Given the description of an element on the screen output the (x, y) to click on. 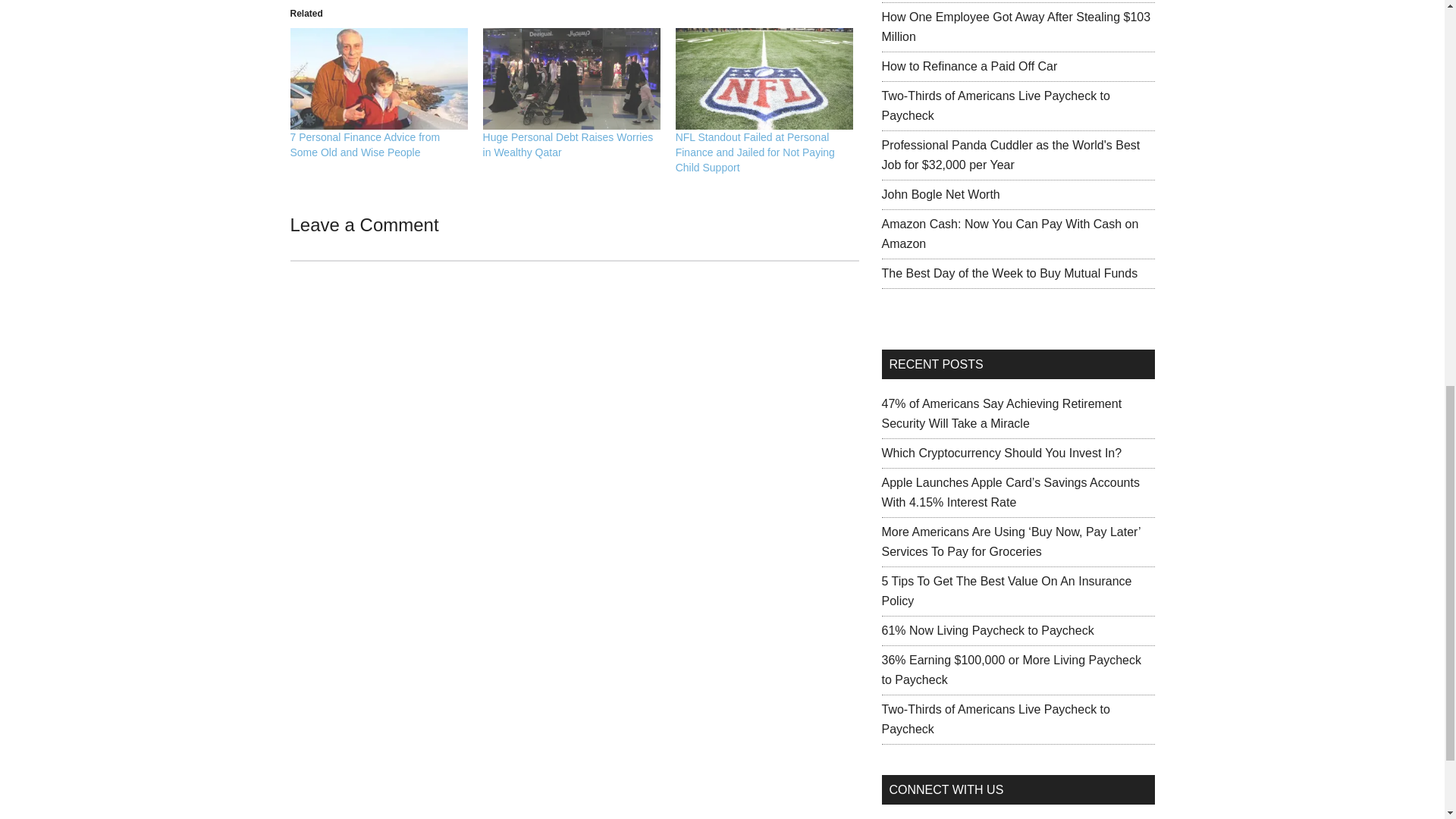
Two-Thirds of Americans Live Paycheck to Paycheck (994, 105)
Huge Personal Debt Raises Worries in Wealthy Qatar (568, 144)
7 Personal Finance Advice from Some Old and Wise People (364, 144)
How to Refinance a Paid Off Car (968, 65)
Huge Personal Debt Raises Worries in Wealthy Qatar (568, 144)
7 Personal Finance Advice from Some Old and Wise People (378, 78)
Huge Personal Debt Raises Worries in Wealthy Qatar (572, 78)
7 Personal Finance Advice from Some Old and Wise People (364, 144)
